Given the description of an element on the screen output the (x, y) to click on. 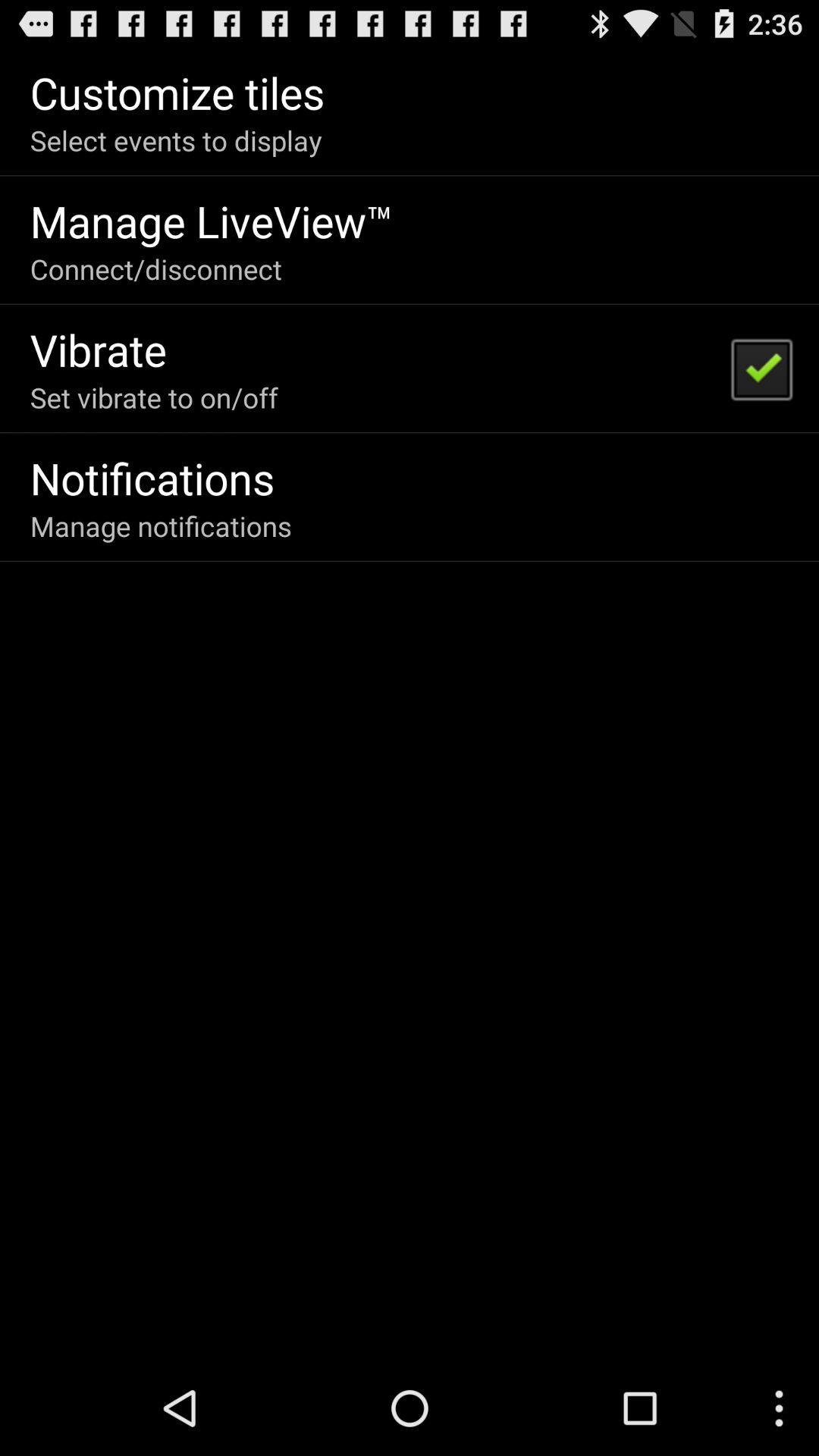
scroll to the manage notifications icon (160, 525)
